Given the description of an element on the screen output the (x, y) to click on. 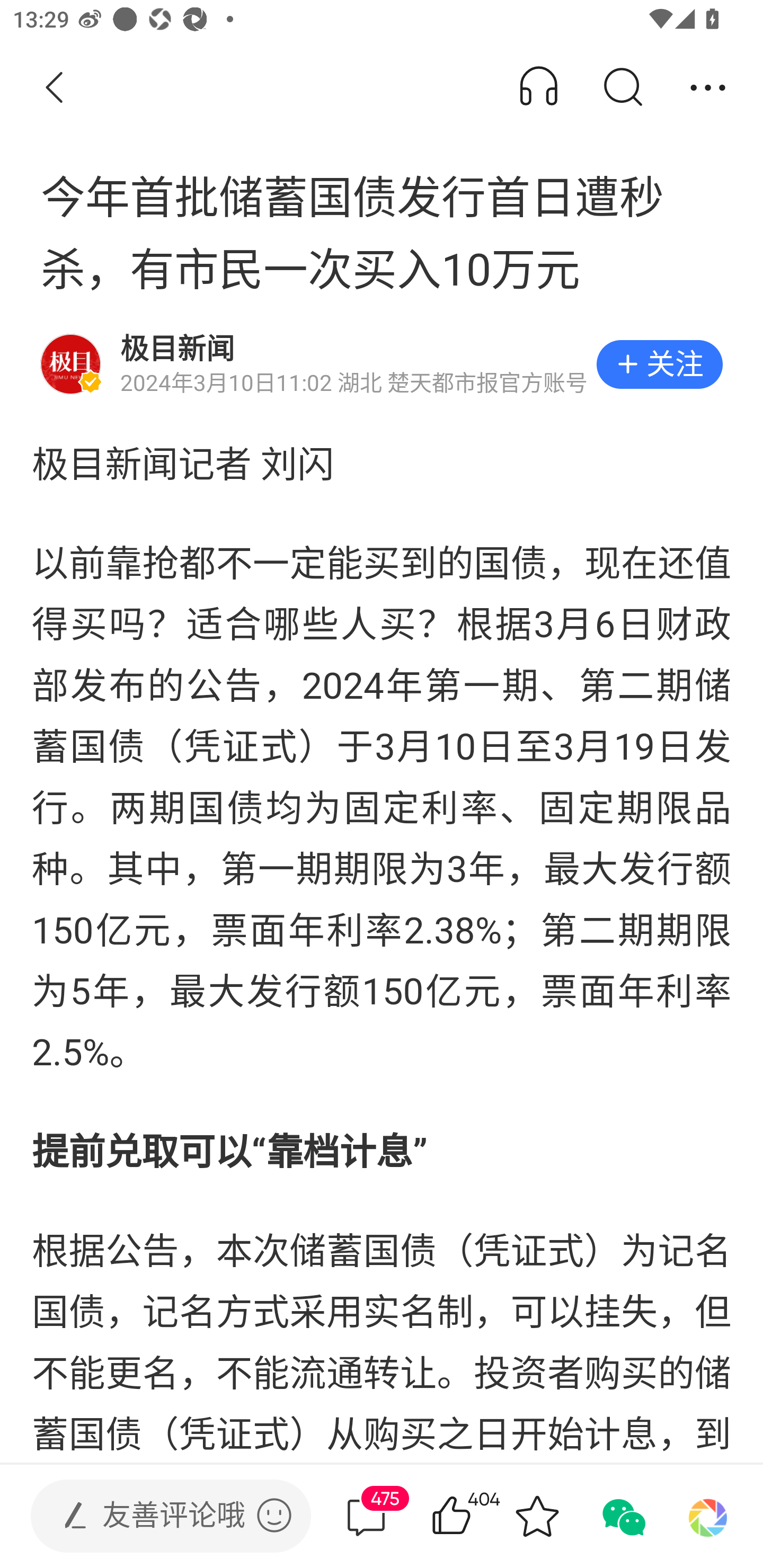
搜索  (622, 87)
分享  (707, 87)
 返回 (54, 87)
极目新闻 2024年3月10日11:02 湖北 楚天都市报官方账号  关注 (381, 364)
 关注 (659, 364)
发表评论  友善评论哦 发表评论  (155, 1516)
475评论  475 评论 (365, 1516)
404赞 (476, 1516)
收藏  (536, 1516)
分享到微信  (622, 1516)
分享到朋友圈 (707, 1516)
 (274, 1515)
